Given the description of an element on the screen output the (x, y) to click on. 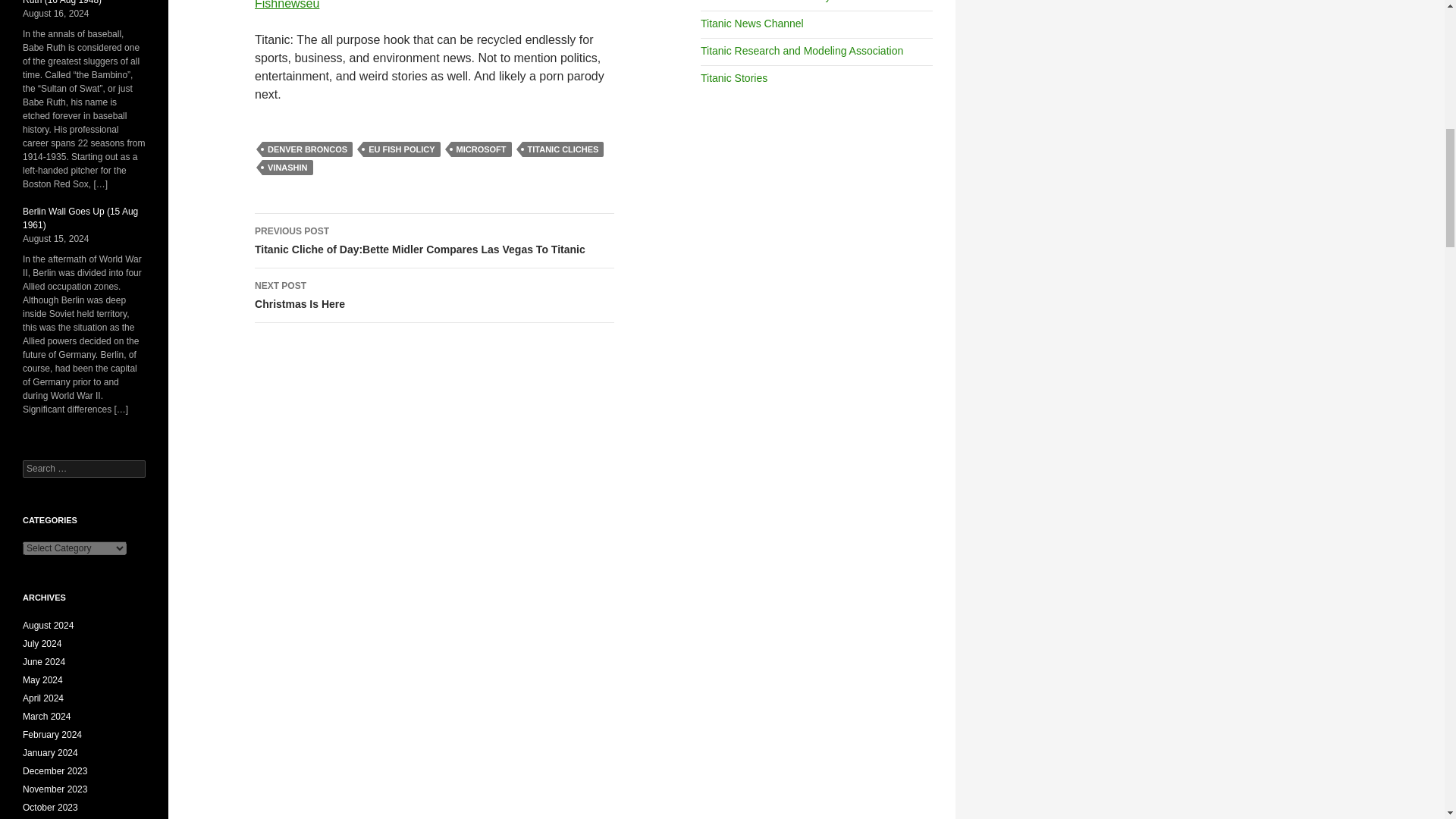
EU FISH POLICY (400, 149)
Fishnewseu (286, 4)
Titanic International Society (764, 1)
VINASHIN (434, 295)
Titanic News Channel (287, 167)
DENVER BRONCOS (751, 23)
MICROSOFT (307, 149)
TITANIC CLICHES (481, 149)
News reports on Titanic and related information. (563, 149)
